Given the description of an element on the screen output the (x, y) to click on. 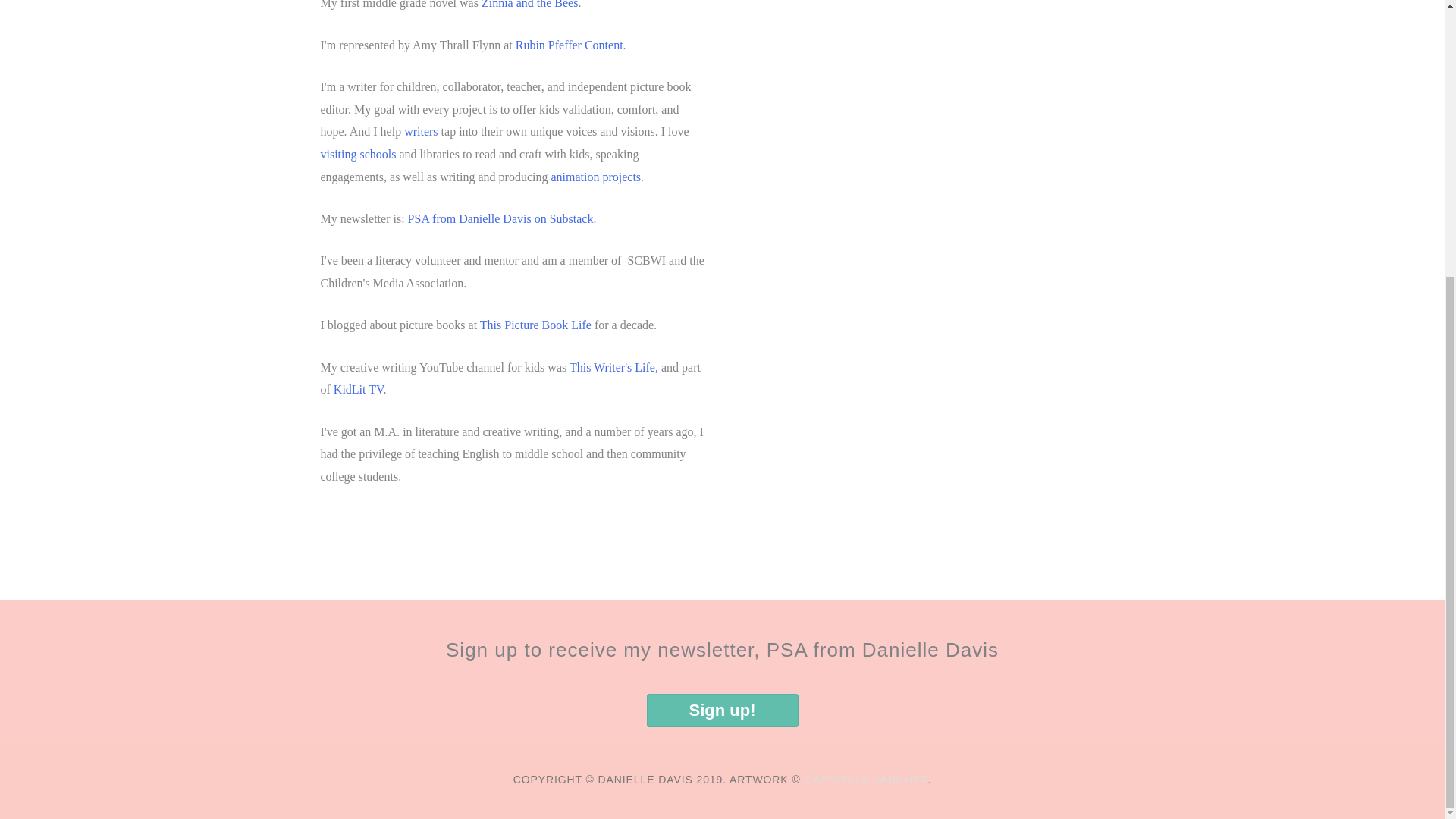
writers (421, 131)
animation projects (595, 176)
Rubin Pfeffer Content (569, 44)
This Writer's Life, (615, 367)
Zinnia and the Bees (529, 4)
This Picture Book Life (537, 324)
PSA from Danielle Davis on Substack (500, 218)
visiting schools (358, 154)
